Given the description of an element on the screen output the (x, y) to click on. 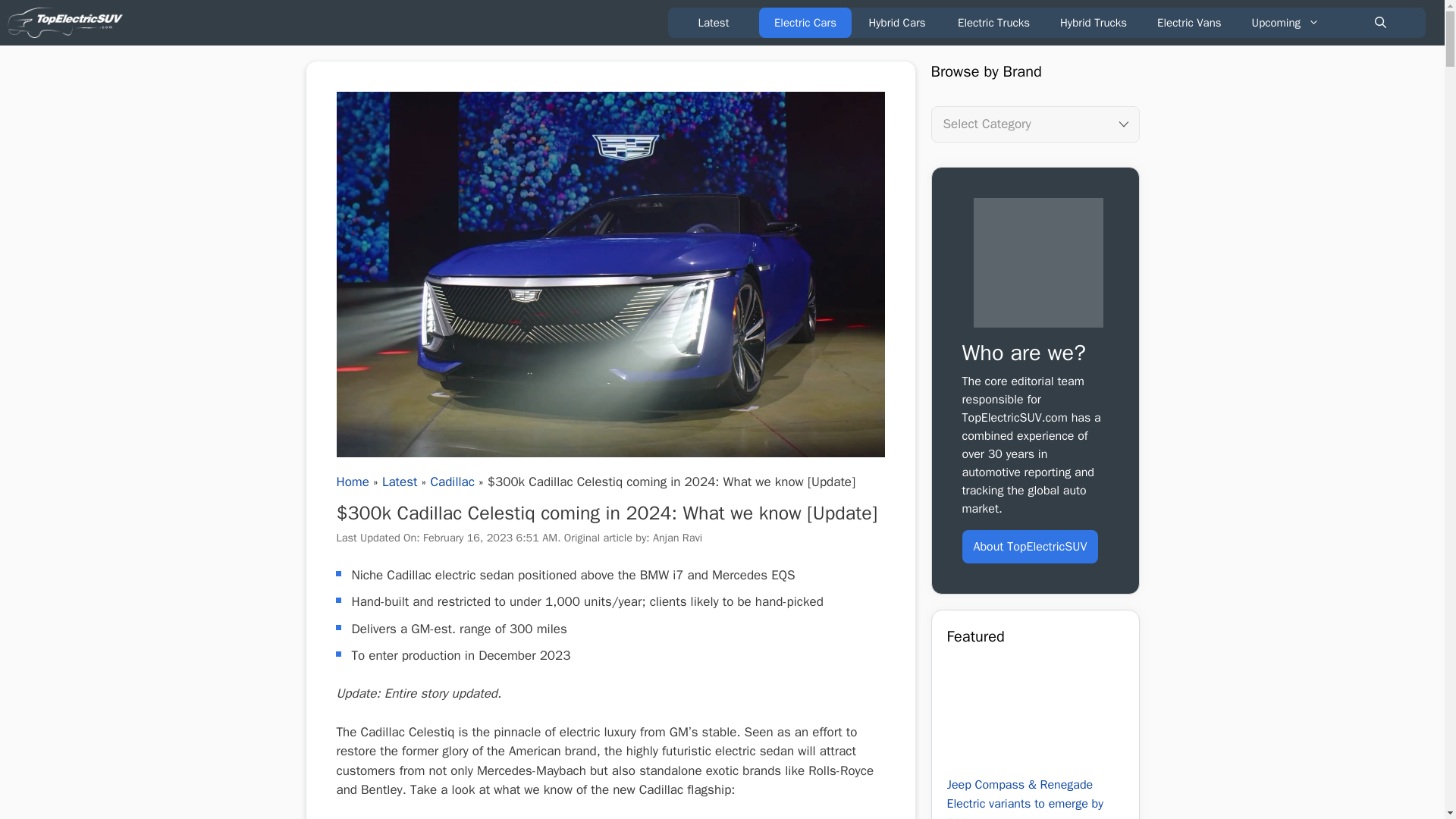
TopElectricSUV (69, 22)
Electric Trucks (993, 22)
Upcoming (1285, 22)
Electric Vans (1188, 22)
View all posts by Anjan Ravi (676, 537)
TopElectricSuv (1038, 261)
Hybrid Trucks (1093, 22)
TopElectricSUV (64, 22)
Electric Cars (804, 22)
Latest (713, 22)
Hybrid Cars (896, 22)
